Given the description of an element on the screen output the (x, y) to click on. 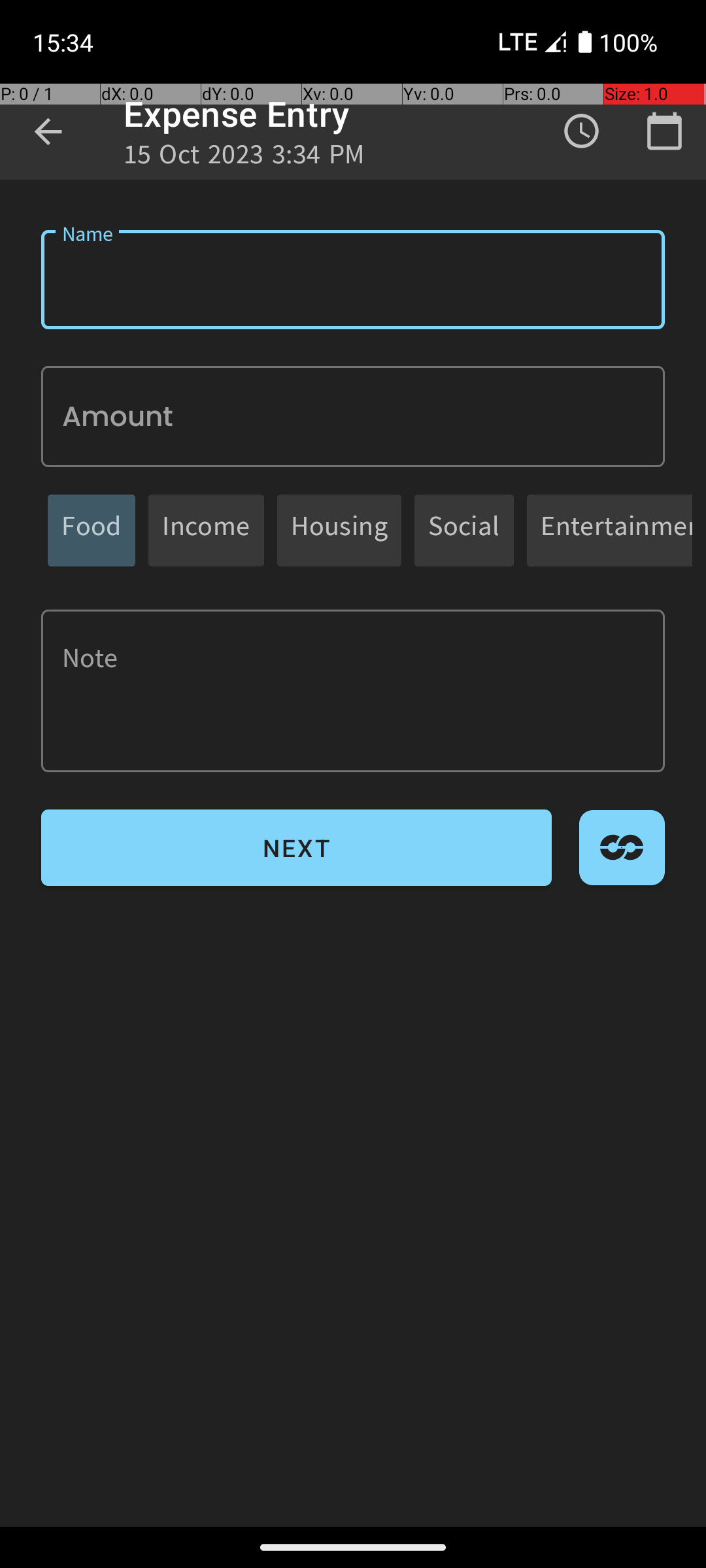
NEXT Element type: android.widget.Button (296, 847)
